Given the description of an element on the screen output the (x, y) to click on. 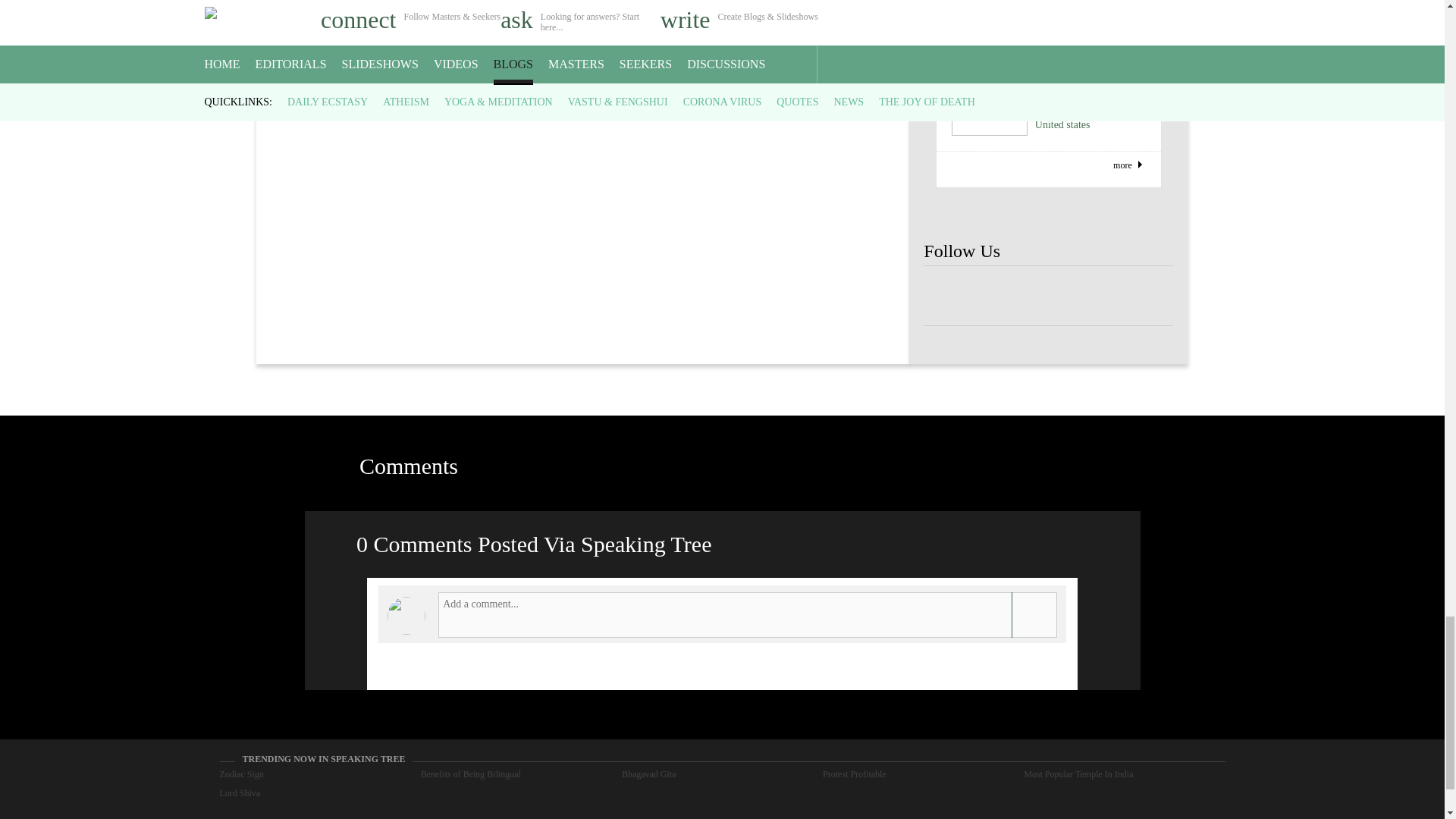
Speaking Tree FaceBook (998, 296)
Speaking Tree FaceBook (1048, 296)
Speaking Tree FaceBook (948, 296)
Speaking Tree FaceBook (1099, 296)
Speaking Tree FaceBook (1147, 296)
